Given the description of an element on the screen output the (x, y) to click on. 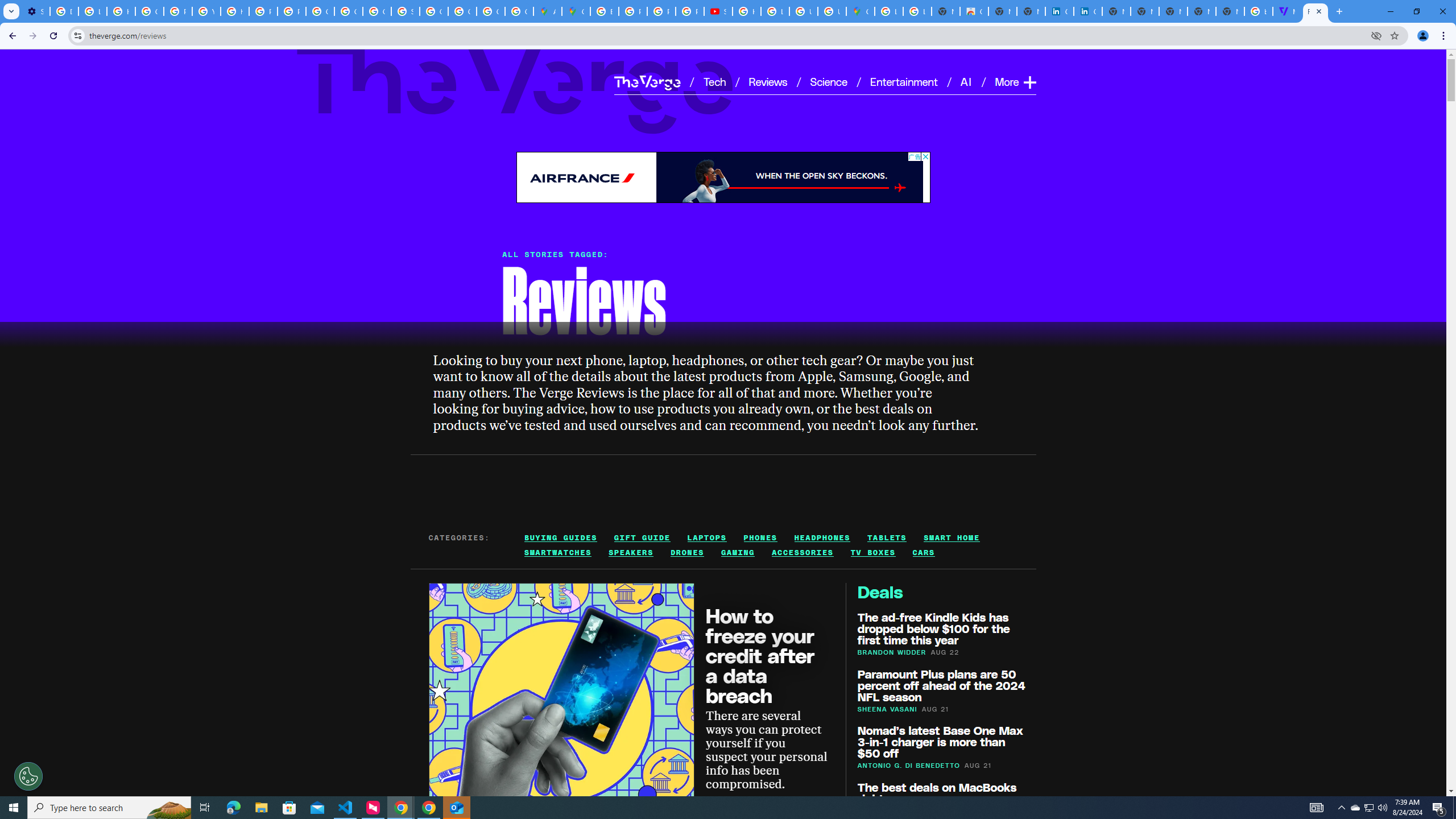
Deals (879, 591)
Privacy Help Center - Policies Help (632, 11)
Delete photos & videos - Computer - Google Photos Help (63, 11)
